Given the description of an element on the screen output the (x, y) to click on. 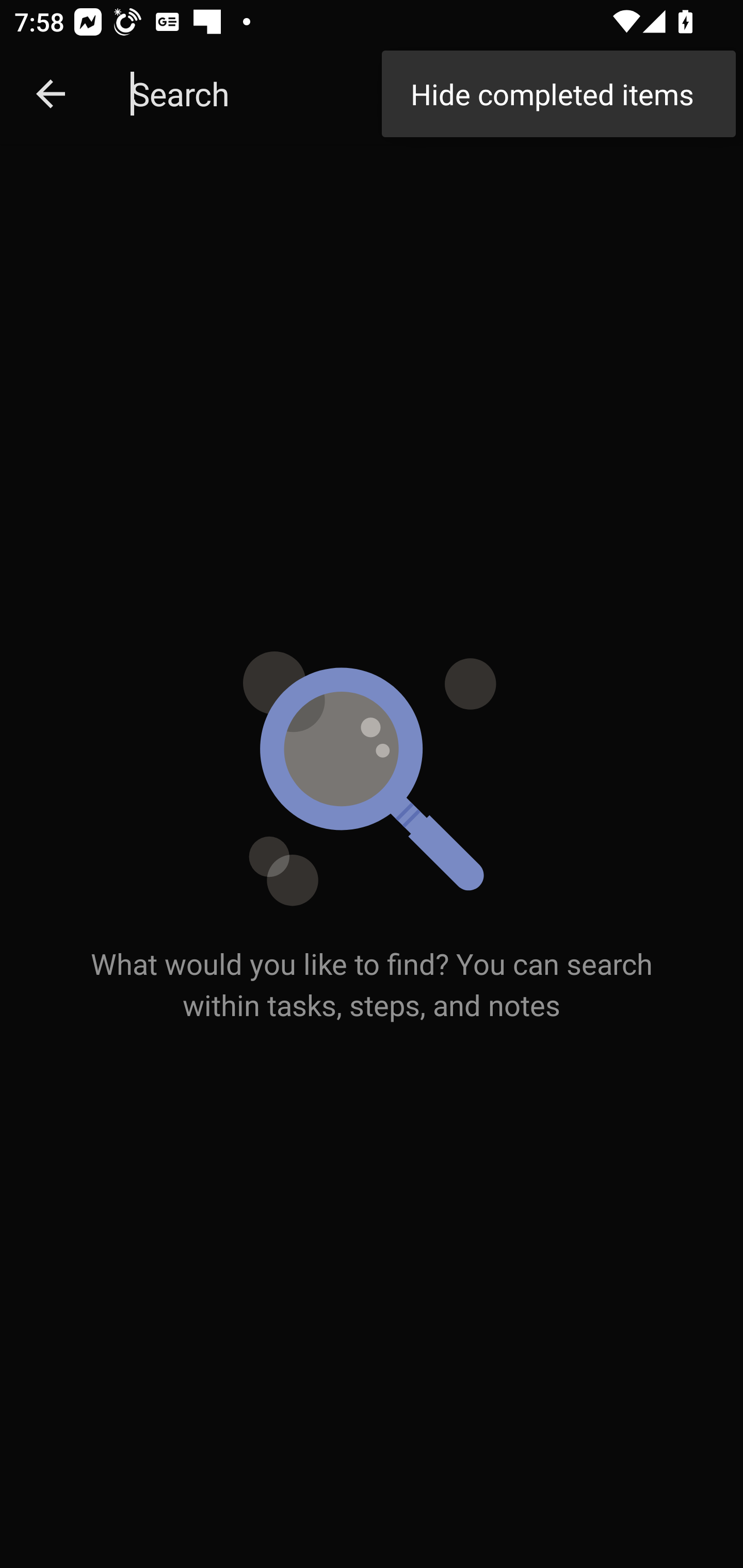
Hide completed items (558, 93)
